Given the description of an element on the screen output the (x, y) to click on. 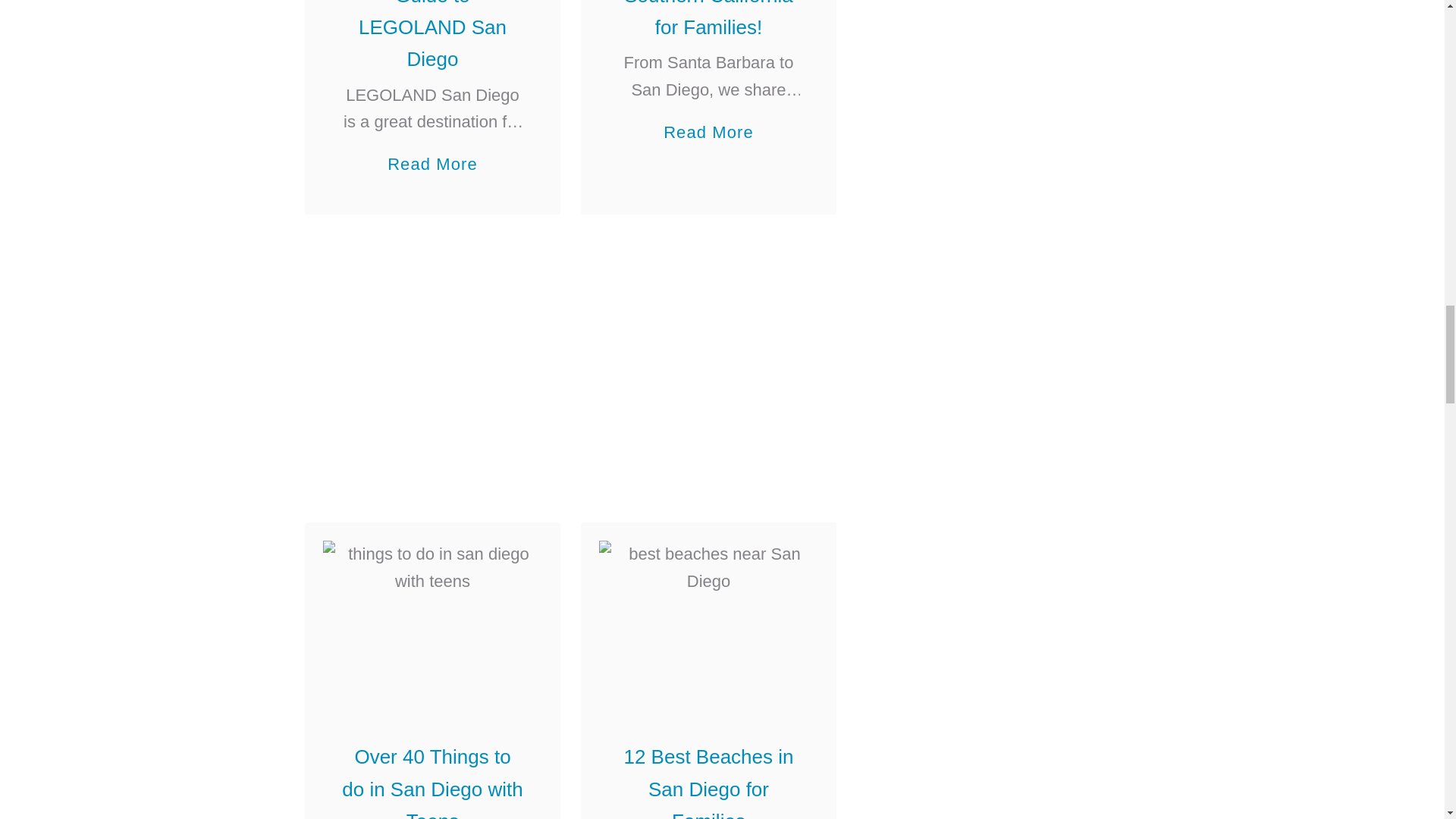
Over 40 Things to do in San Diego with Teens (432, 622)
12 Best Beaches in San Diego for Families (708, 622)
